Given the description of an element on the screen output the (x, y) to click on. 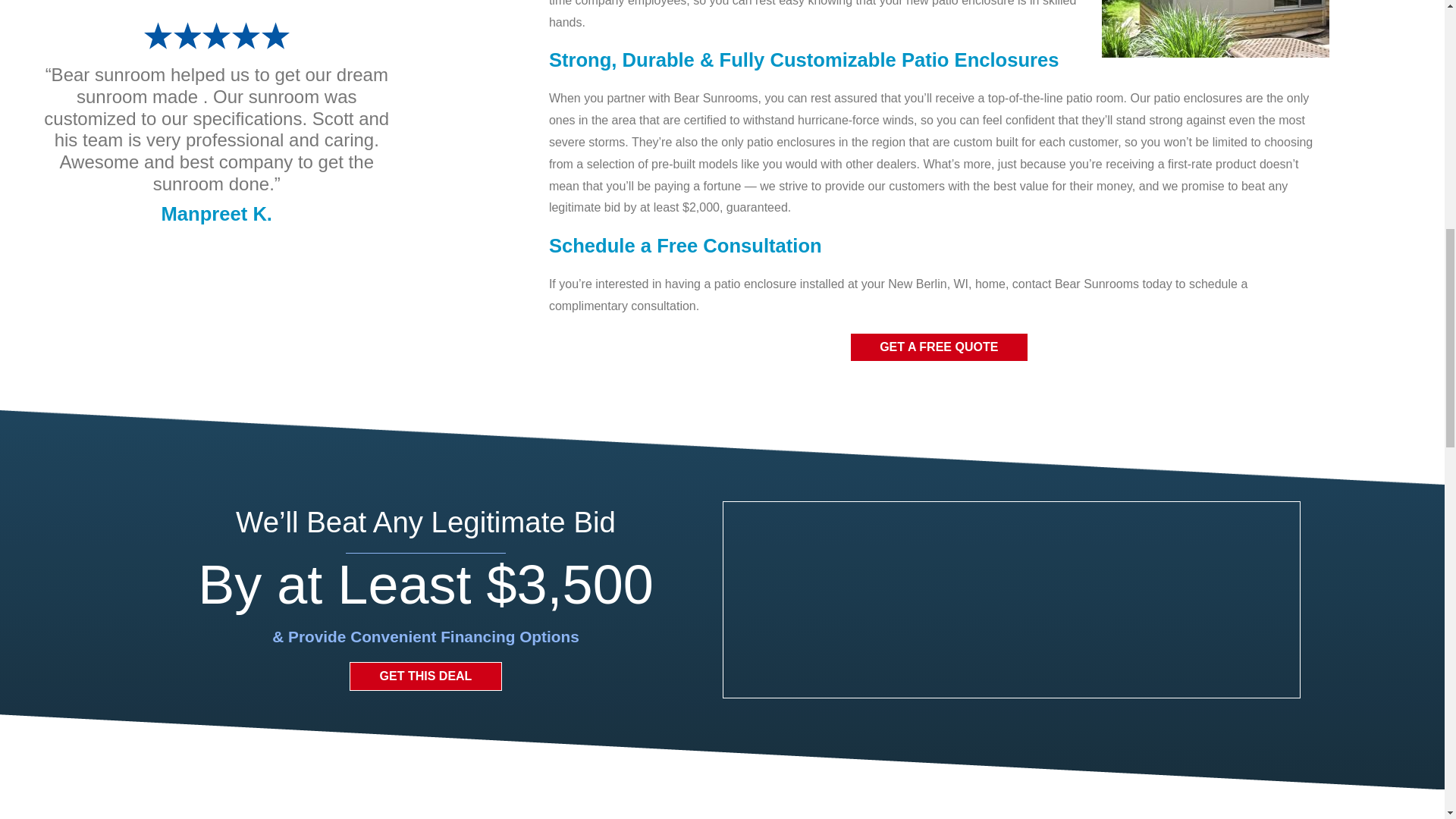
Patio Enclosures New Berlin WI (1215, 28)
GET A FREE QUOTE (938, 346)
GET THIS DEAL (425, 676)
